Given the description of an element on the screen output the (x, y) to click on. 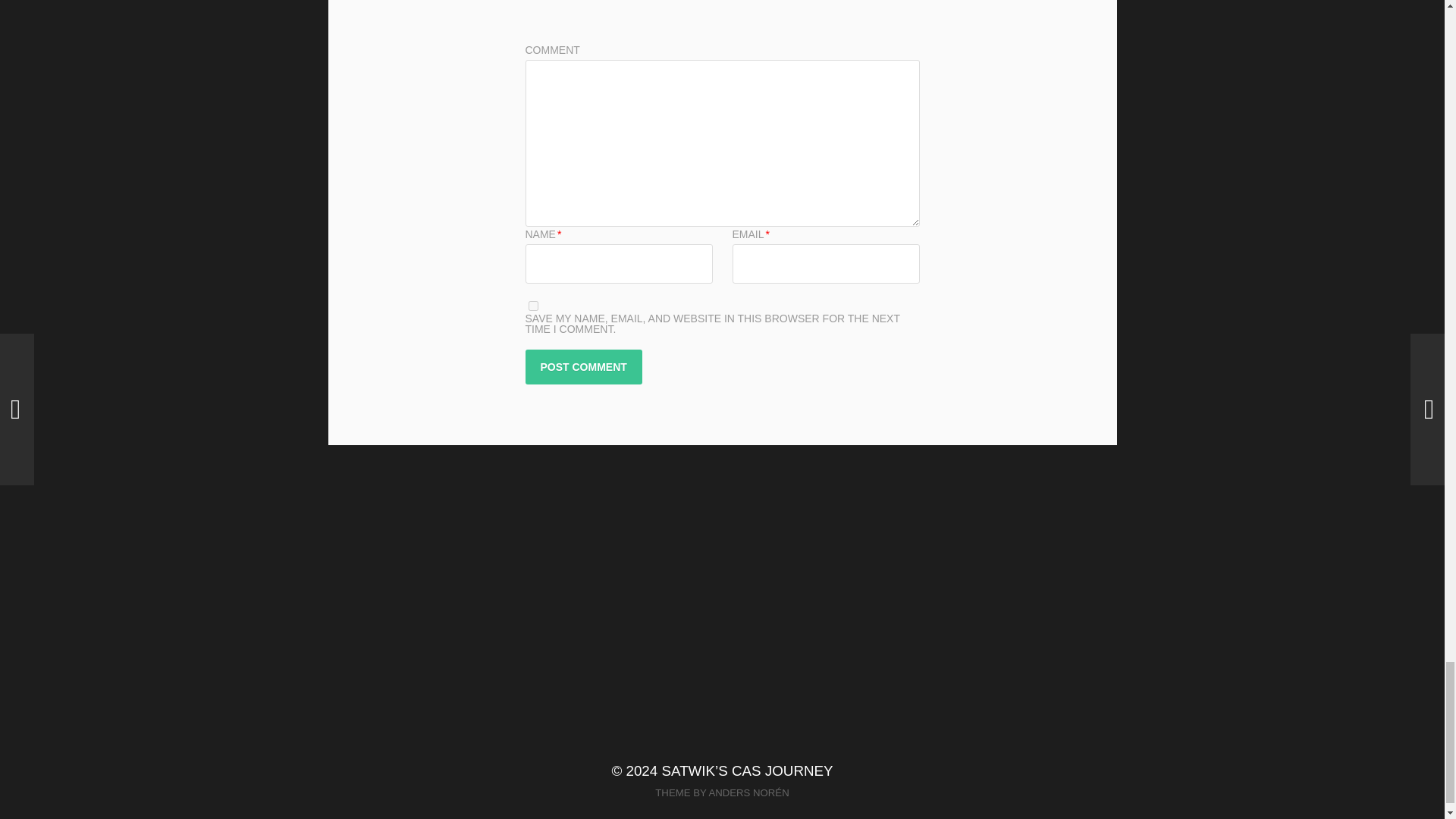
Post Comment (583, 366)
yes (532, 306)
Post Comment (583, 366)
